Given the description of an element on the screen output the (x, y) to click on. 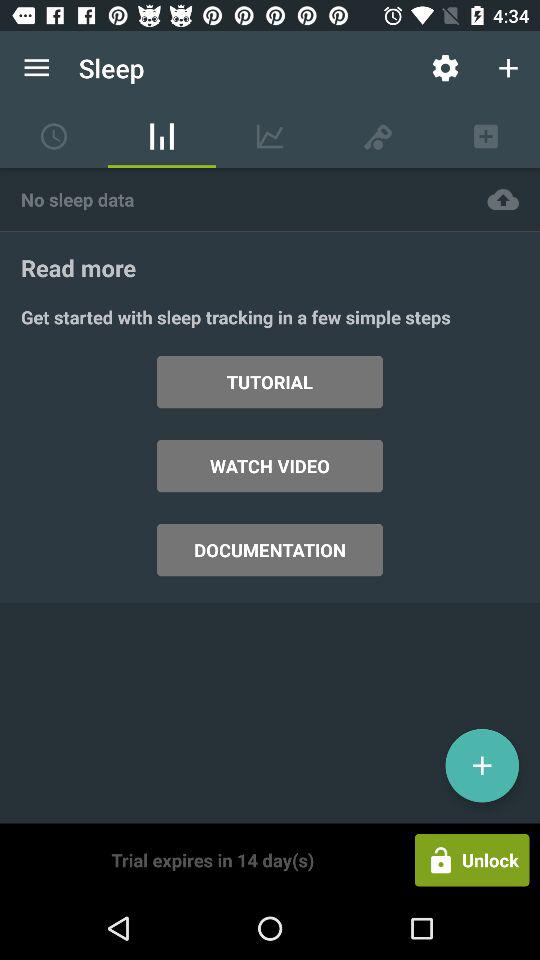
turn off the documentation (269, 549)
